Given the description of an element on the screen output the (x, y) to click on. 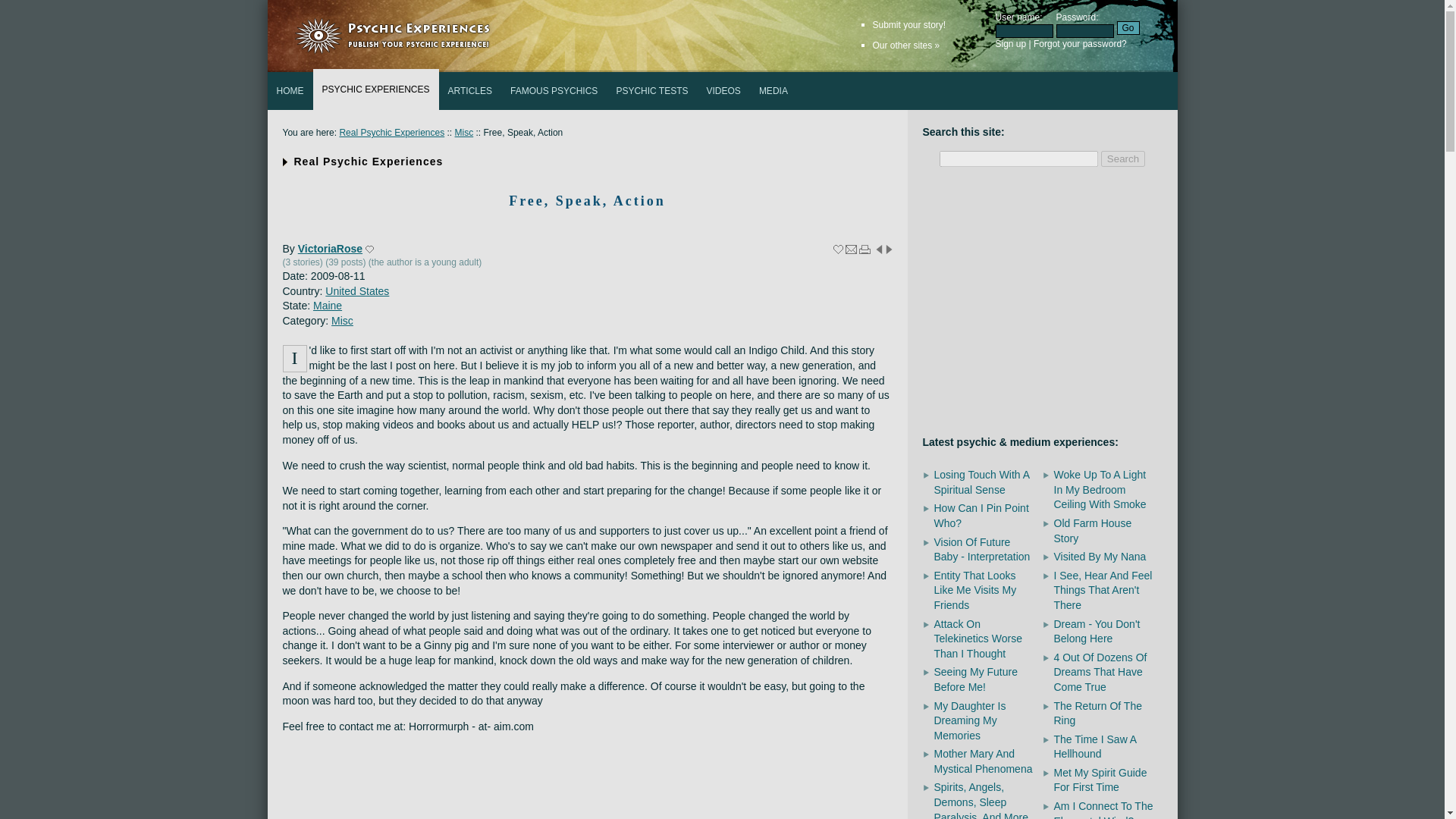
Go (1127, 28)
Search (1122, 158)
Add to your favorite stories (837, 248)
Go (1127, 28)
FAMOUS PSYCHICS (553, 90)
Send this story to a friend (851, 248)
Add VictoriaRose to your favorite people (369, 248)
Print this story (864, 248)
Add VictoriaRose to your favorite people (369, 248)
PSYCHIC TESTS (652, 90)
Misc (464, 132)
United States (356, 291)
ARTICLES (469, 90)
Send this story to a friend (851, 248)
MEDIA (772, 90)
